Given the description of an element on the screen output the (x, y) to click on. 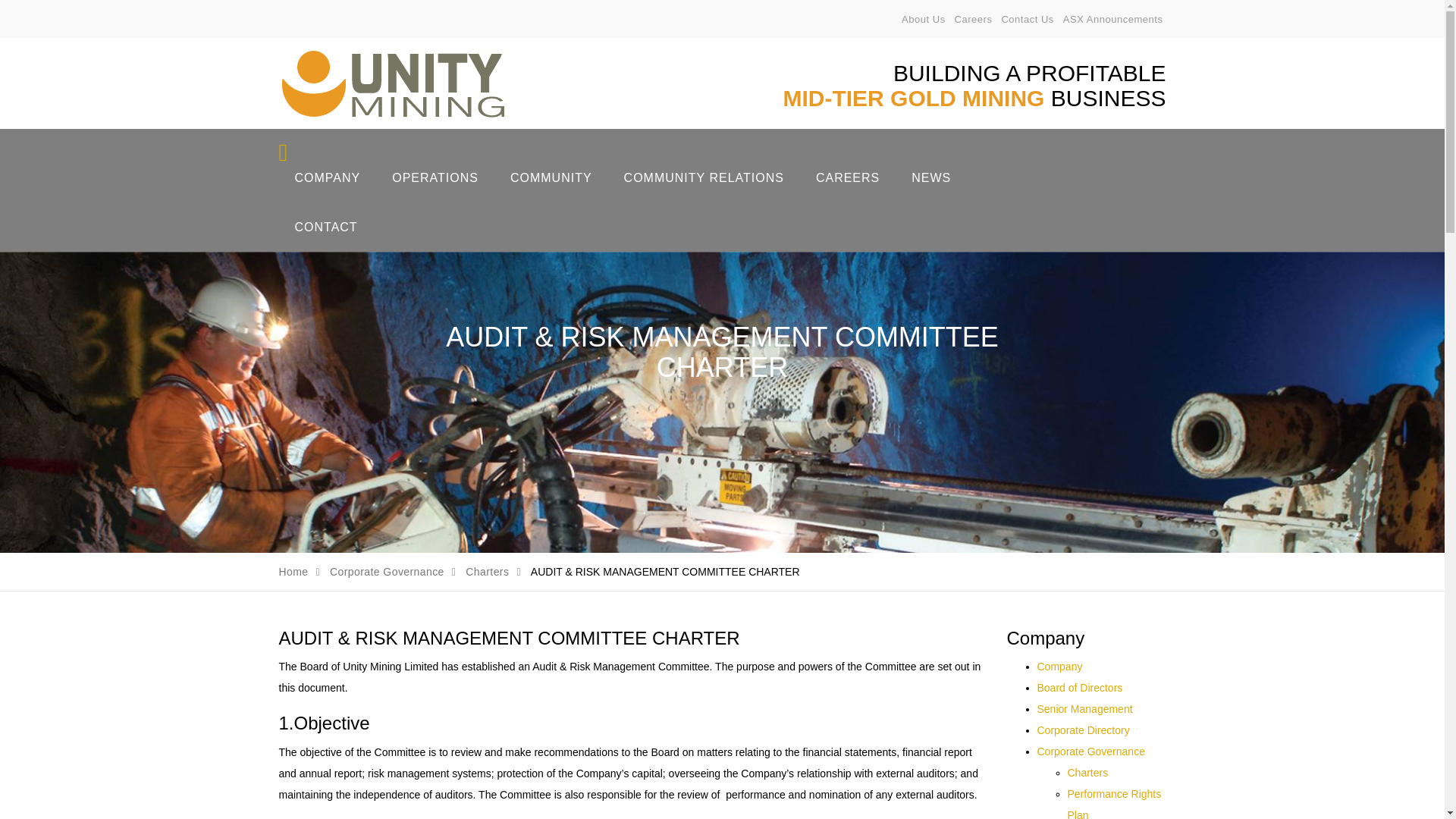
Contact Us (1027, 19)
ASX Announcements (1112, 19)
Operations (434, 177)
Company (328, 177)
COMPANY (328, 177)
Careers (973, 19)
OPERATIONS (434, 177)
About Us (922, 19)
